Given the description of an element on the screen output the (x, y) to click on. 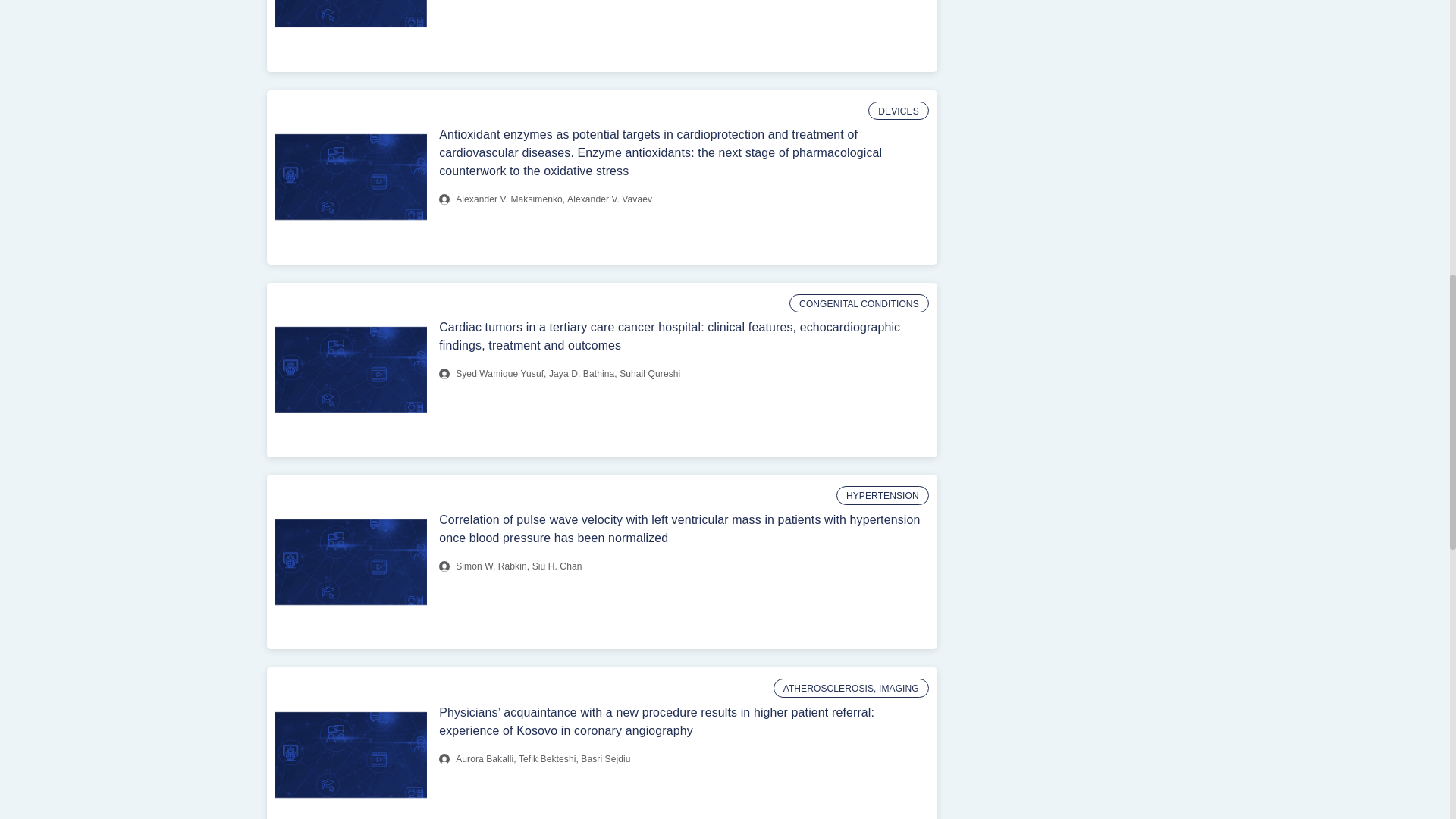
3rd party ad content (1062, 47)
